Given the description of an element on the screen output the (x, y) to click on. 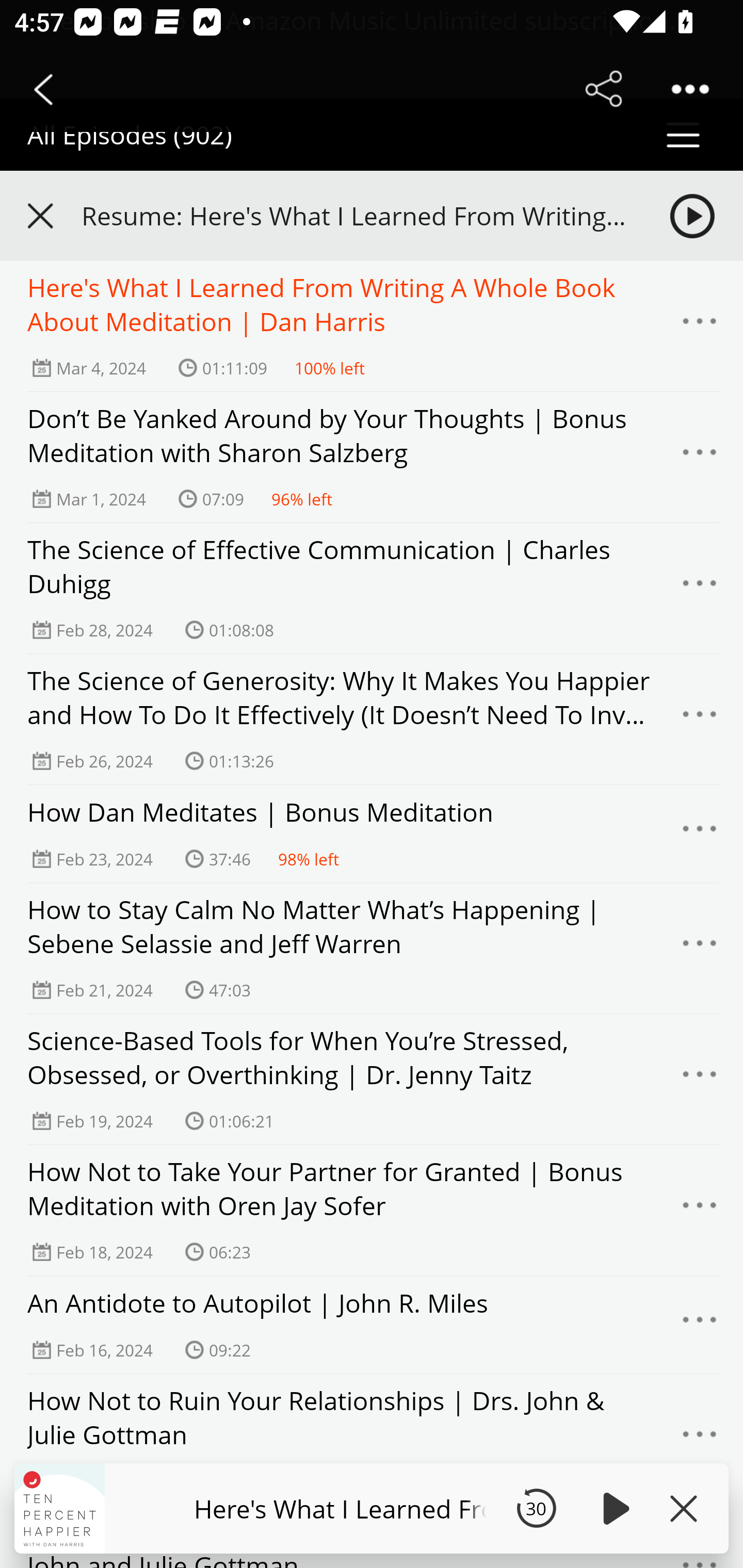
Back (43, 88)
Menu (699, 326)
Menu (699, 456)
Menu (699, 588)
Menu (699, 719)
Menu (699, 834)
Menu (699, 948)
Menu (699, 1079)
Menu (699, 1210)
Menu (699, 1324)
Menu (699, 1439)
Play (613, 1507)
30 Seek Backward (536, 1508)
